Given the description of an element on the screen output the (x, y) to click on. 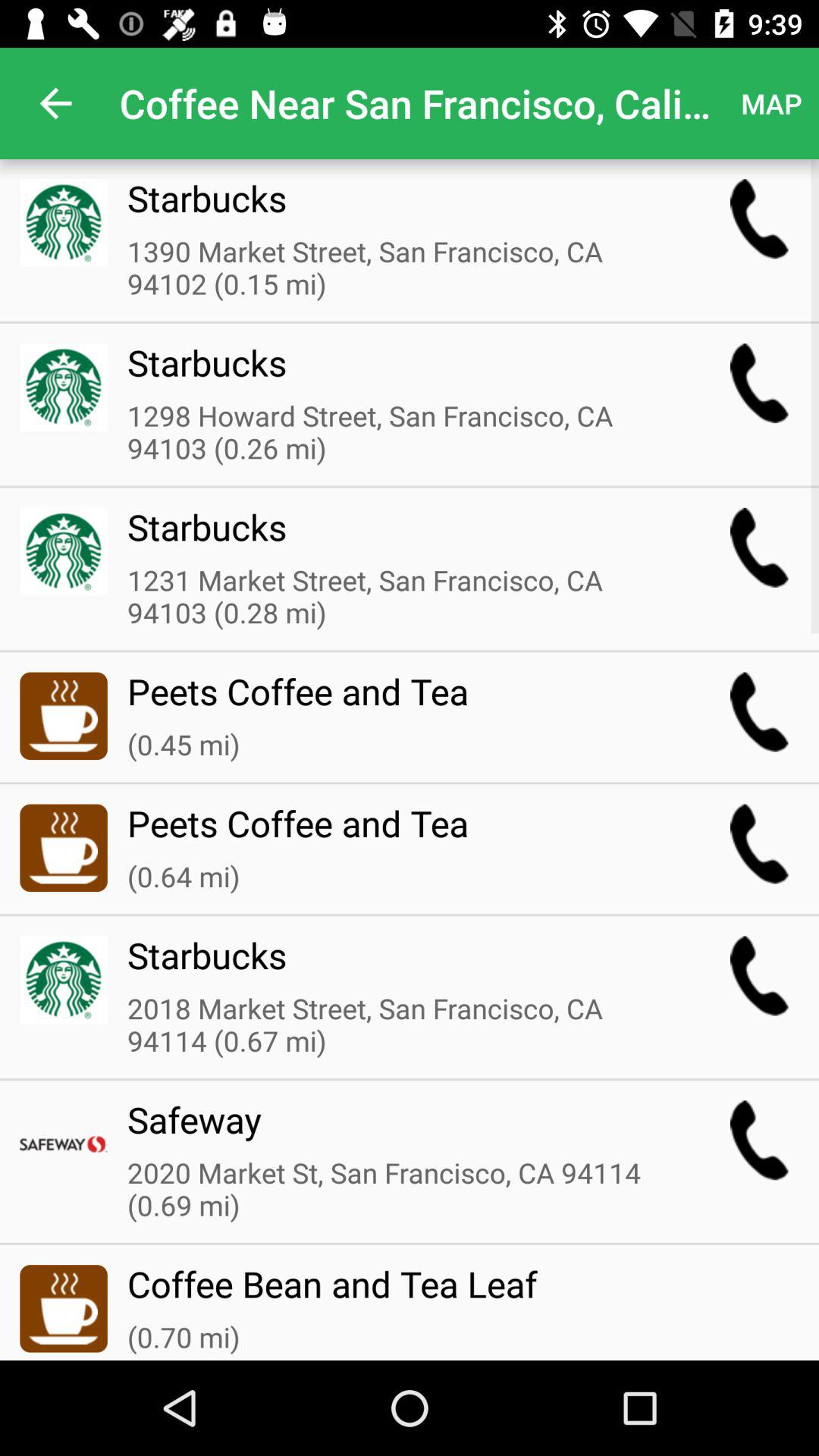
turn on the item below the 2018 market street icon (398, 1128)
